Given the description of an element on the screen output the (x, y) to click on. 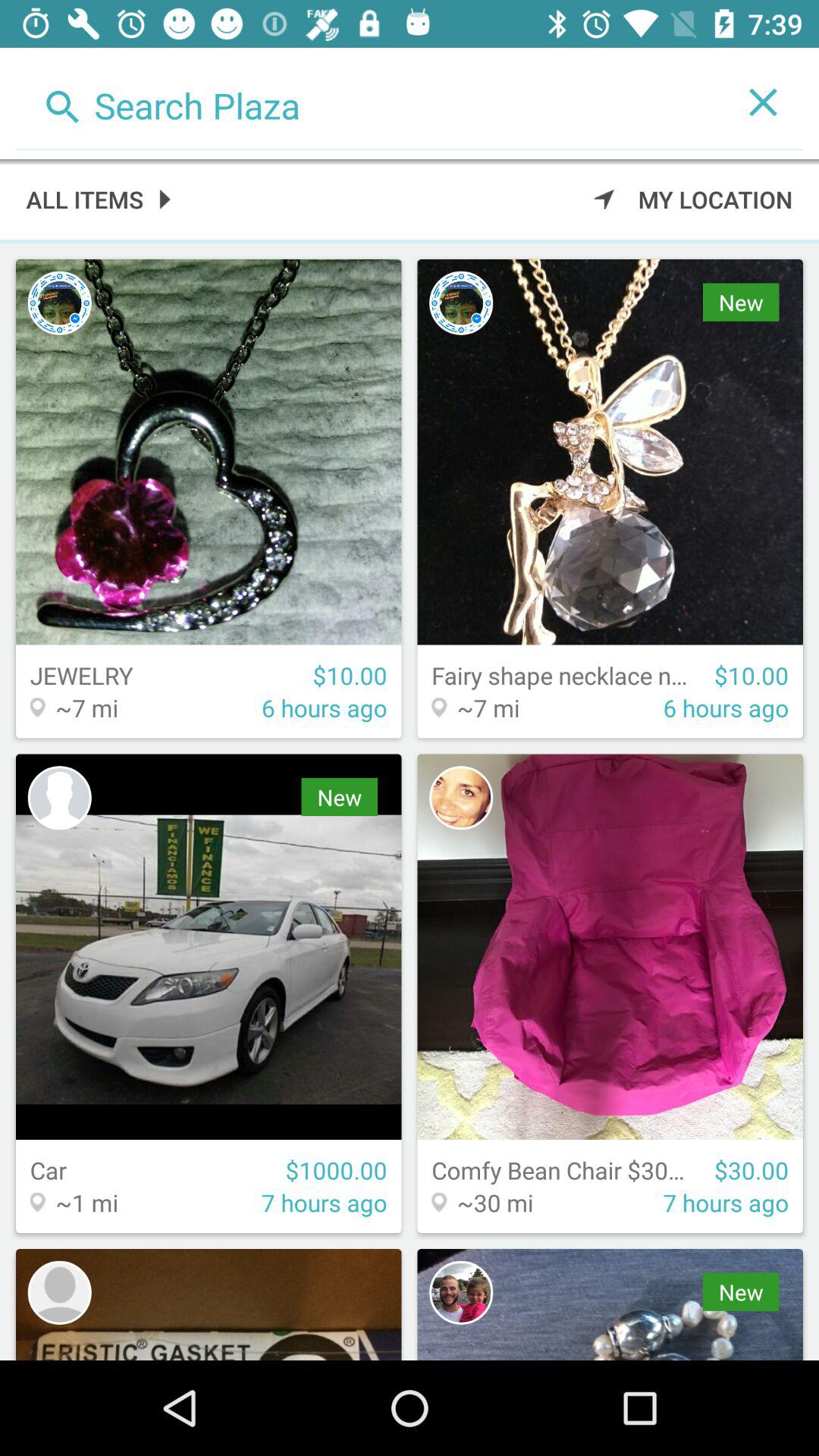
display picture of seller (59, 1292)
